Given the description of an element on the screen output the (x, y) to click on. 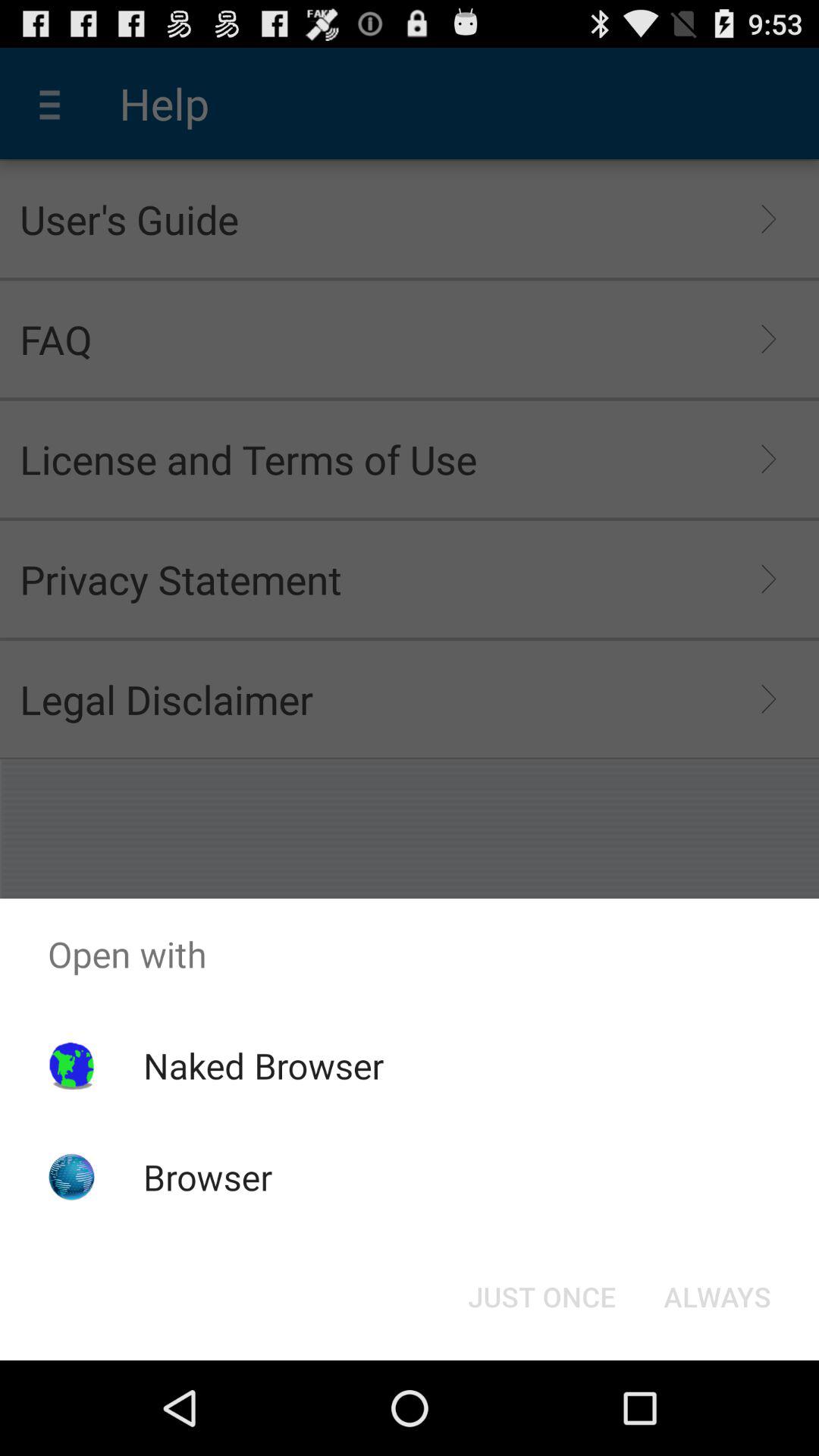
swipe to the just once item (541, 1296)
